Given the description of an element on the screen output the (x, y) to click on. 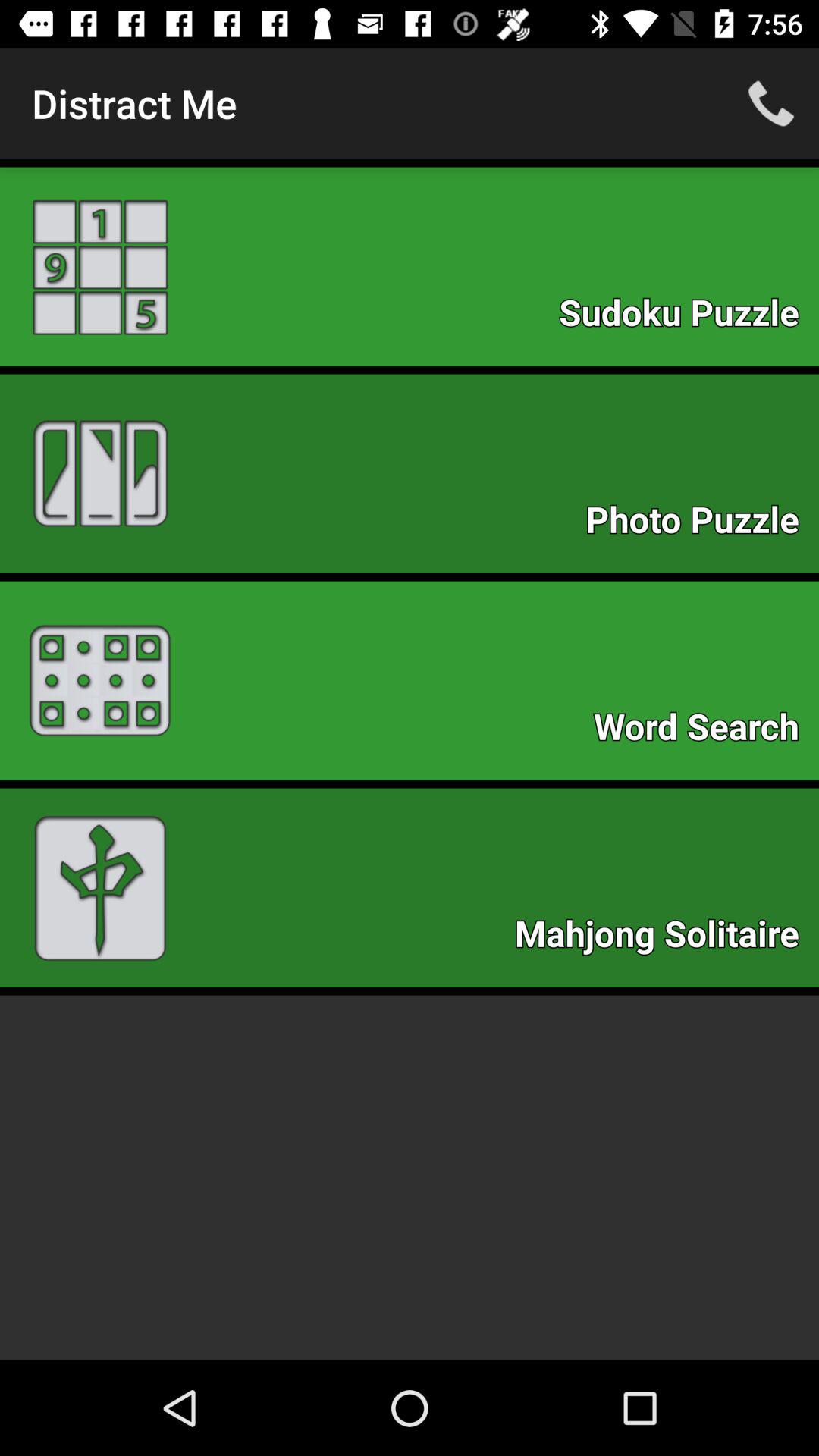
open sudoku puzzle item (686, 316)
